Given the description of an element on the screen output the (x, y) to click on. 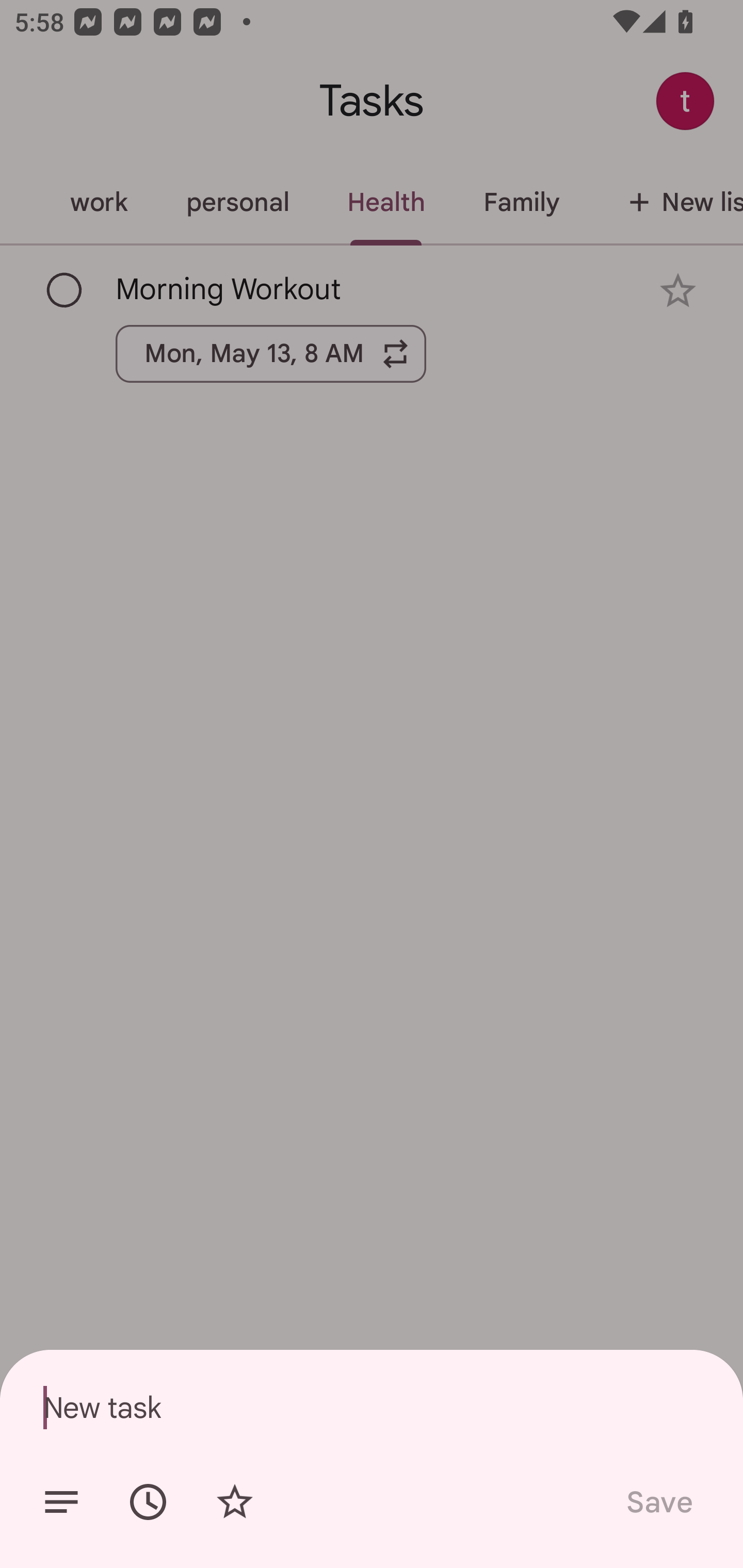
New task (371, 1407)
Save (659, 1501)
Add details (60, 1501)
Set date/time (147, 1501)
Add star (234, 1501)
